Given the description of an element on the screen output the (x, y) to click on. 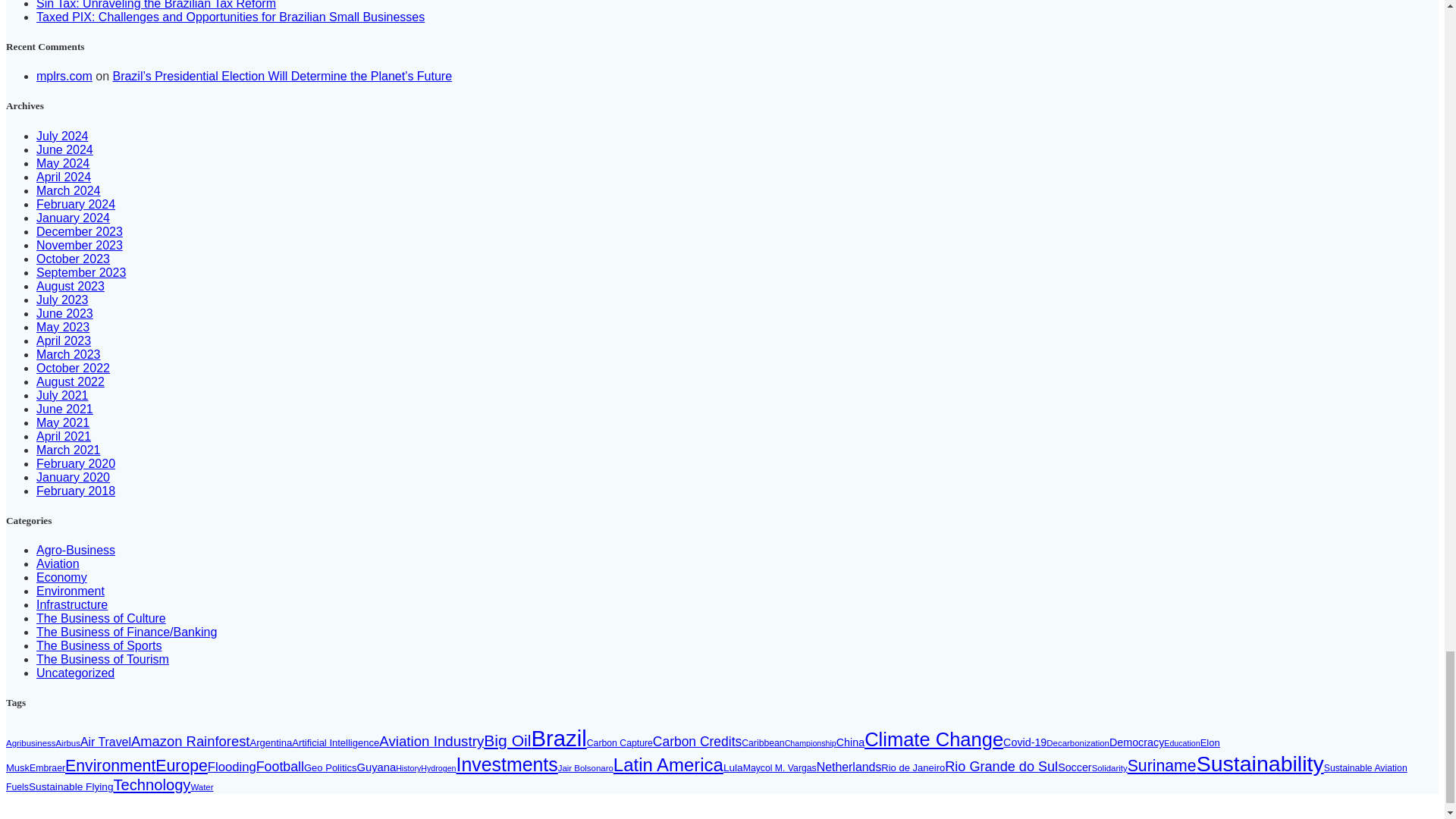
April 2024 (63, 176)
mplrs.com (64, 75)
July 2024 (62, 135)
February 2024 (75, 204)
October 2023 (73, 258)
Sin Tax: Unraveling the Brazilian Tax Reform (156, 4)
January 2024 (73, 217)
May 2024 (62, 163)
December 2023 (79, 231)
June 2024 (64, 149)
March 2024 (68, 190)
November 2023 (79, 245)
